Given the description of an element on the screen output the (x, y) to click on. 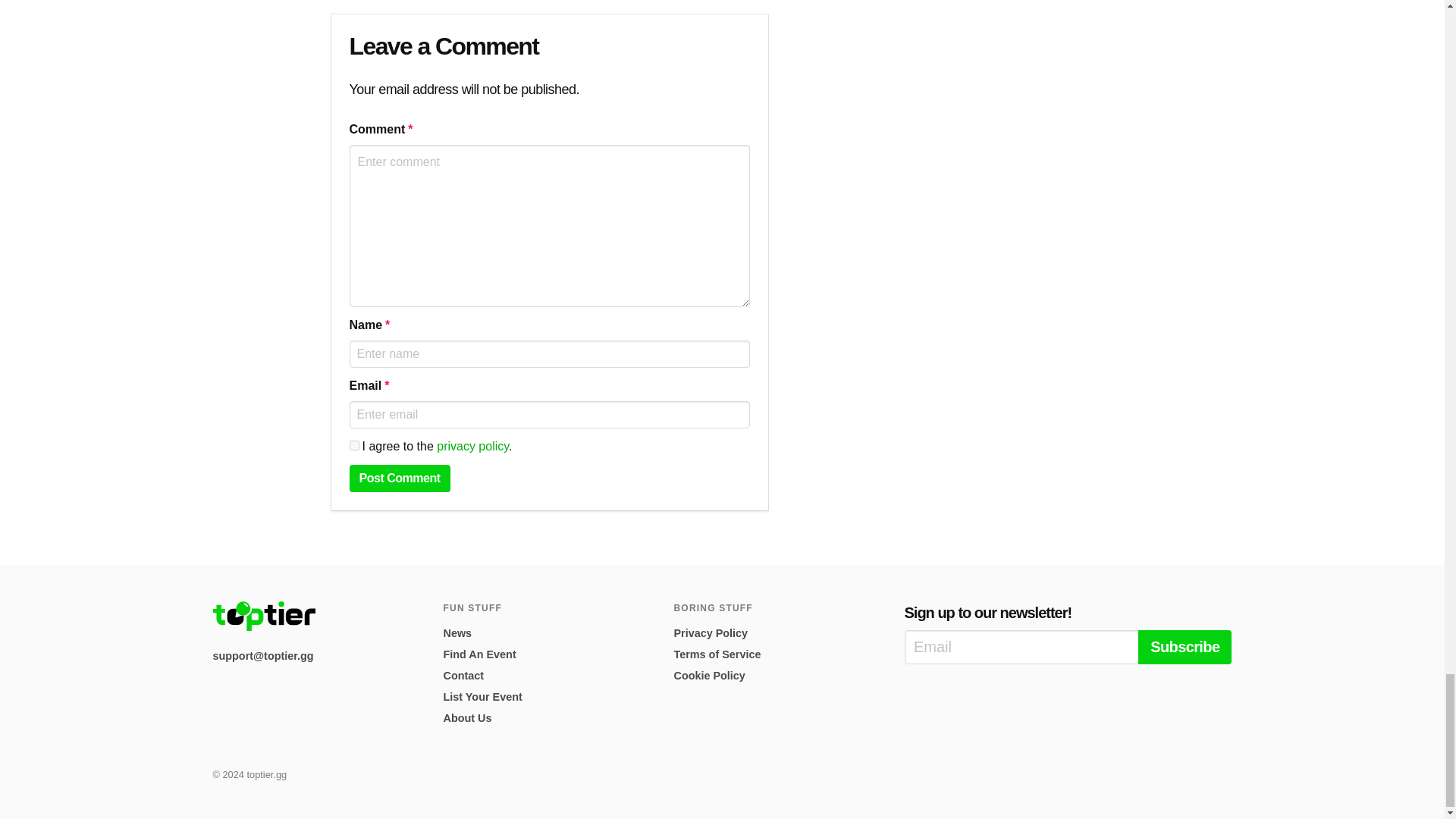
yes (353, 445)
Subscribe (1184, 646)
Post Comment (399, 478)
